Given the description of an element on the screen output the (x, y) to click on. 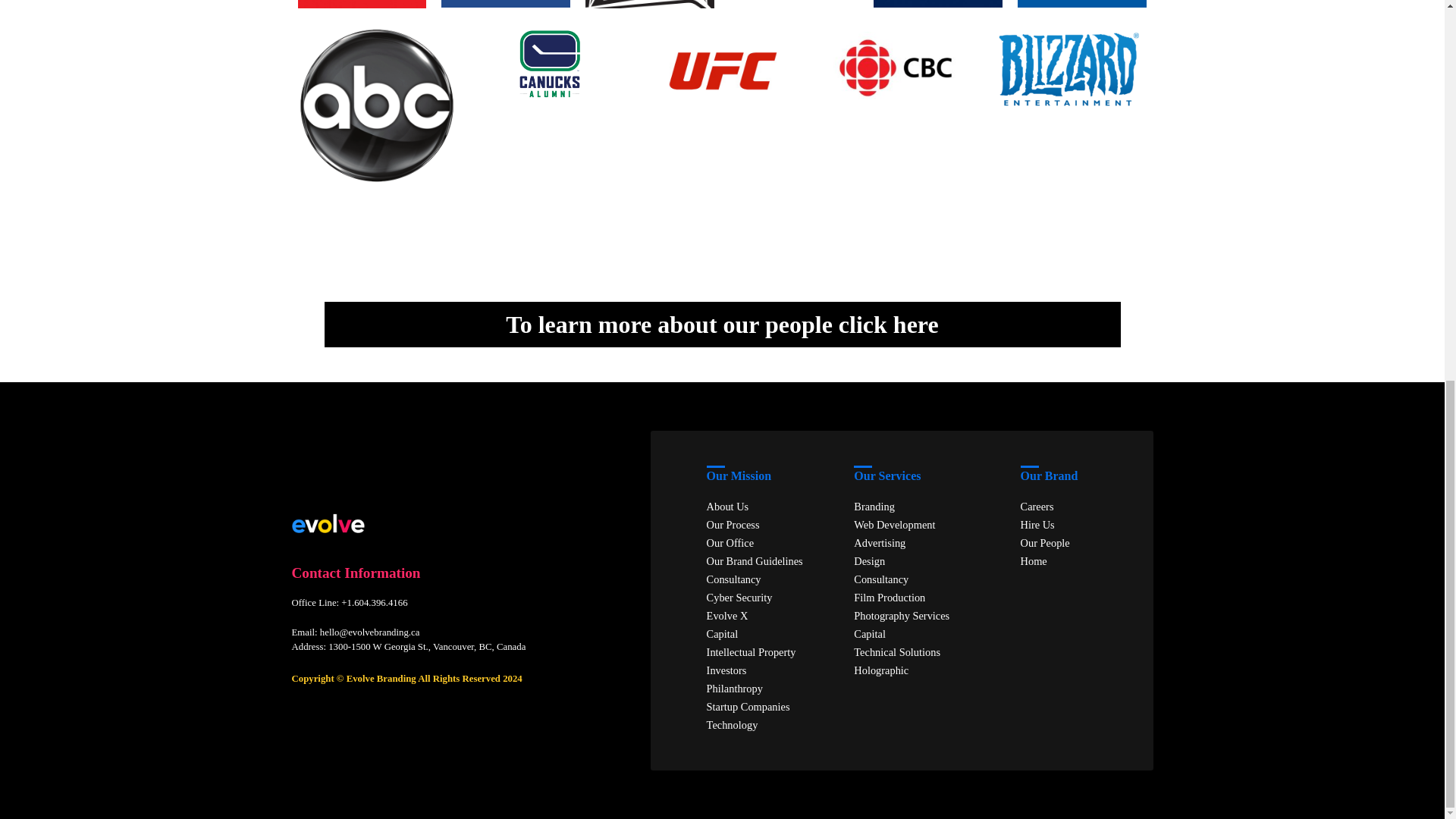
Fox1987 (649, 4)
